Given the description of an element on the screen output the (x, y) to click on. 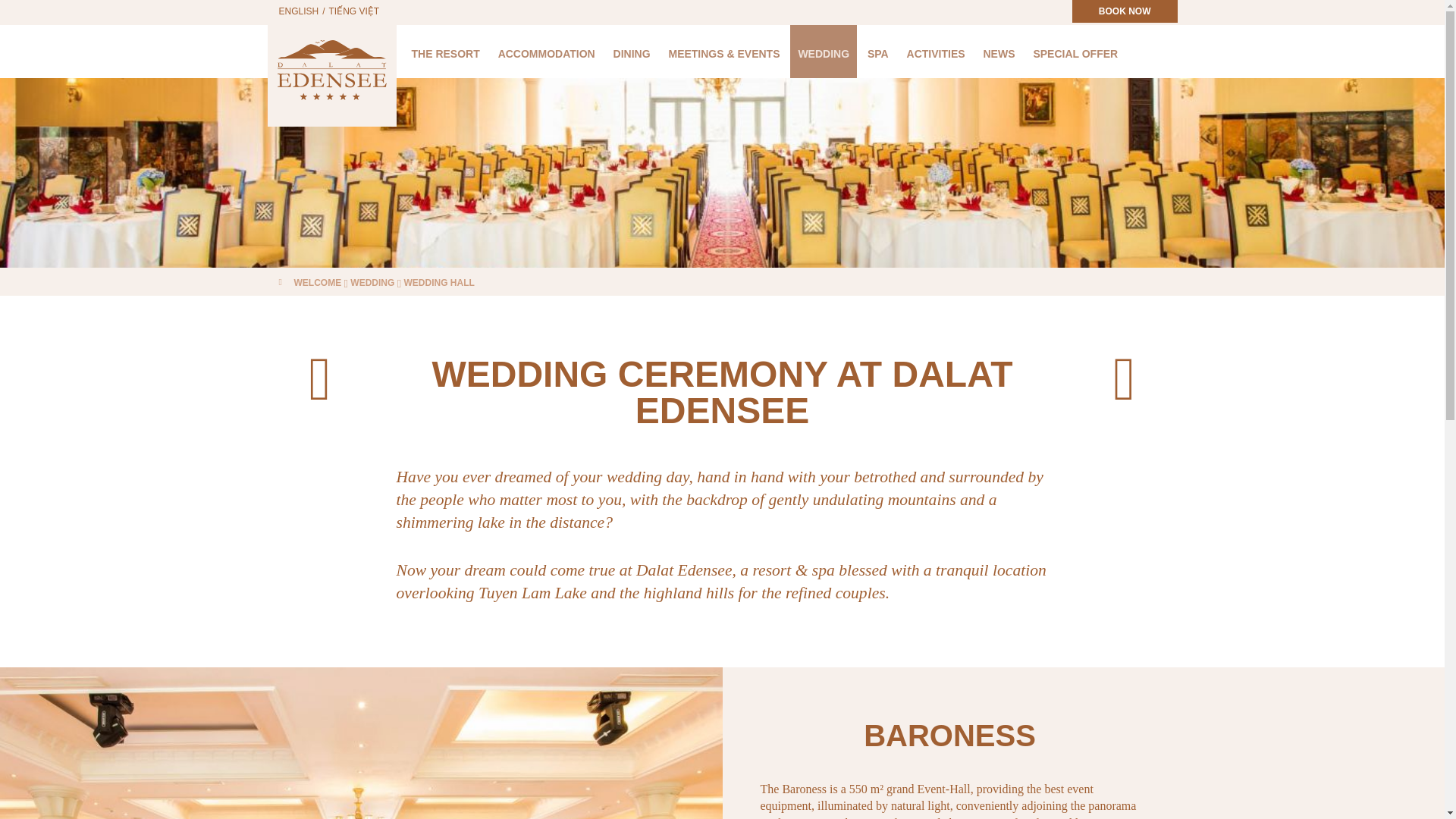
WEDDING (823, 51)
BOOK NOW (1124, 11)
ACCOMMODATION (546, 51)
Accommodation (546, 51)
Dining (631, 51)
The Resort (444, 51)
THE RESORT (444, 51)
ENGLISH (298, 10)
DINING (631, 51)
ACTIVITIES (935, 51)
